Given the description of an element on the screen output the (x, y) to click on. 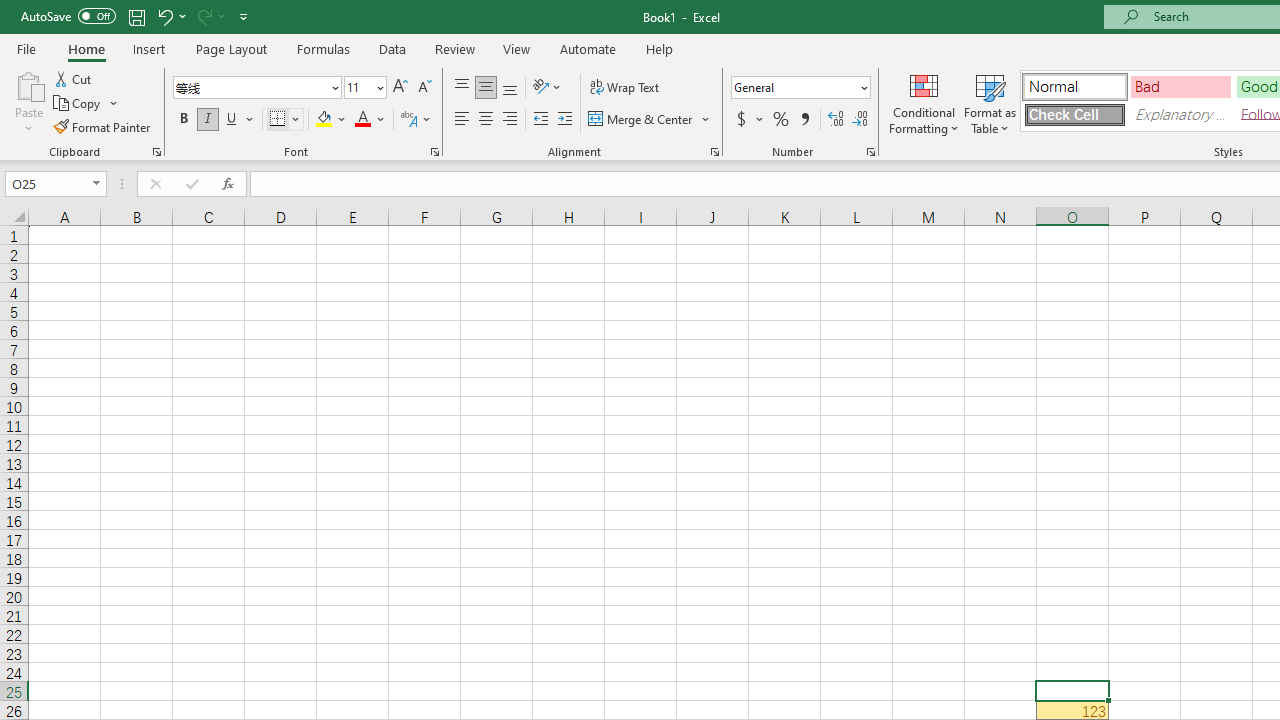
Fill Color RGB(255, 255, 0) (324, 119)
Explanatory Text (1180, 114)
Merge & Center (641, 119)
Copy (78, 103)
Font Size (358, 87)
Paste (28, 102)
Cut (73, 78)
Conditional Formatting (924, 102)
Check Cell (1074, 114)
Format Painter (103, 126)
Top Align (461, 87)
